Given the description of an element on the screen output the (x, y) to click on. 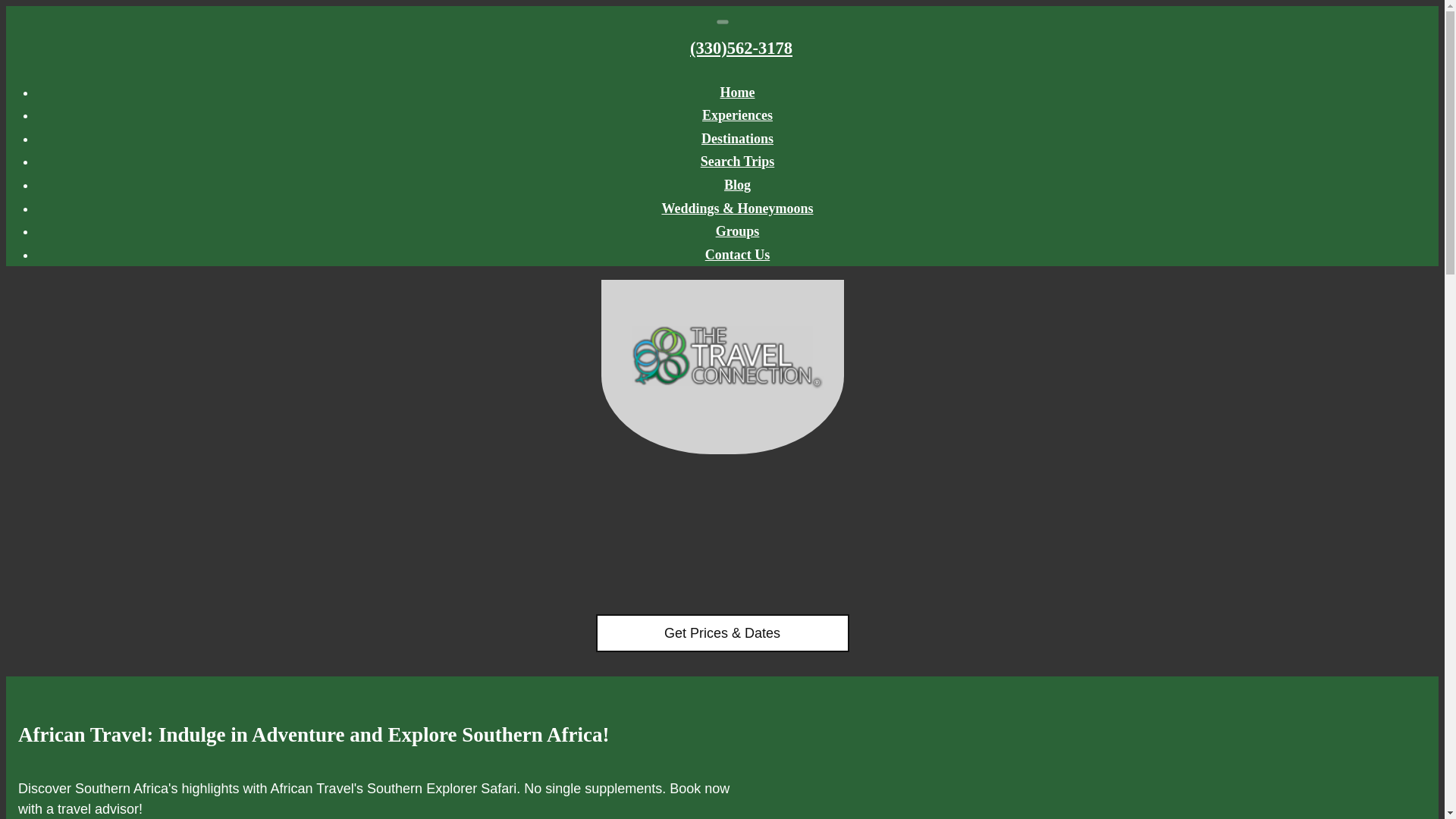
Experiences (737, 115)
Toggle navigation (722, 21)
Destinations (737, 138)
Home (737, 92)
Search Trips (737, 161)
Contact Us (737, 254)
Groups (738, 231)
